Given the description of an element on the screen output the (x, y) to click on. 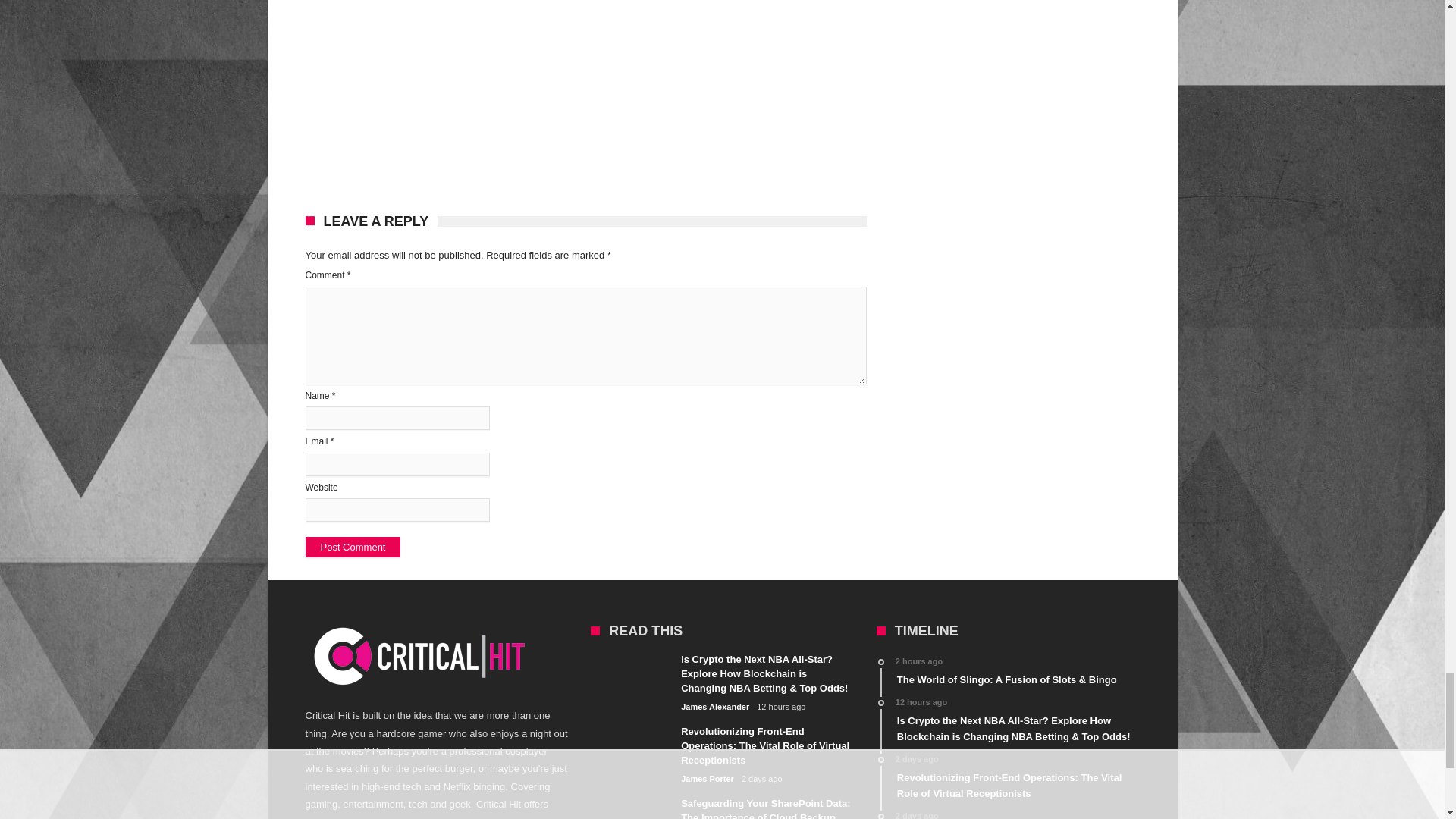
Post Comment (352, 547)
